Given the description of an element on the screen output the (x, y) to click on. 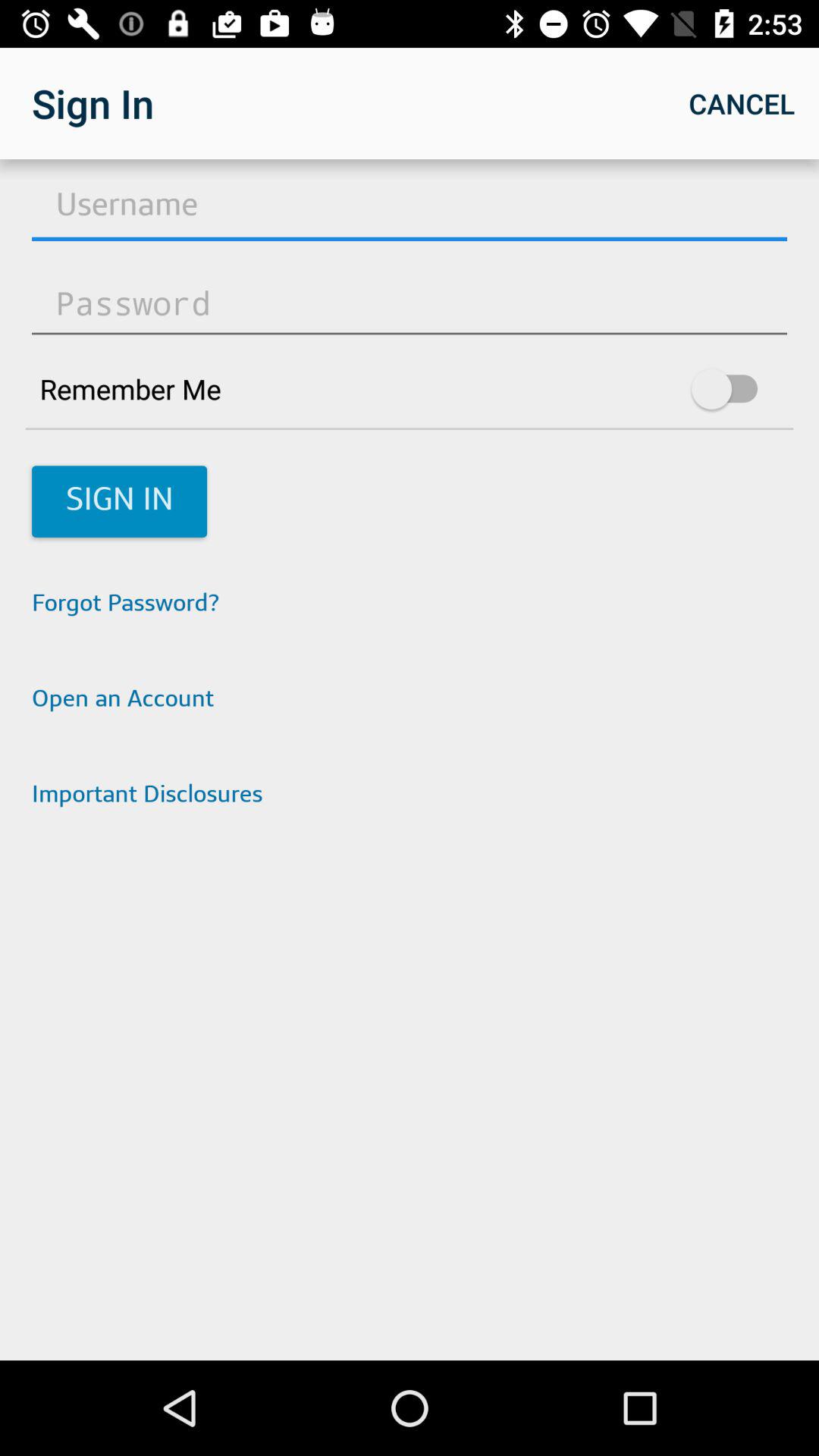
turn off the item above open an account (409, 604)
